Given the description of an element on the screen output the (x, y) to click on. 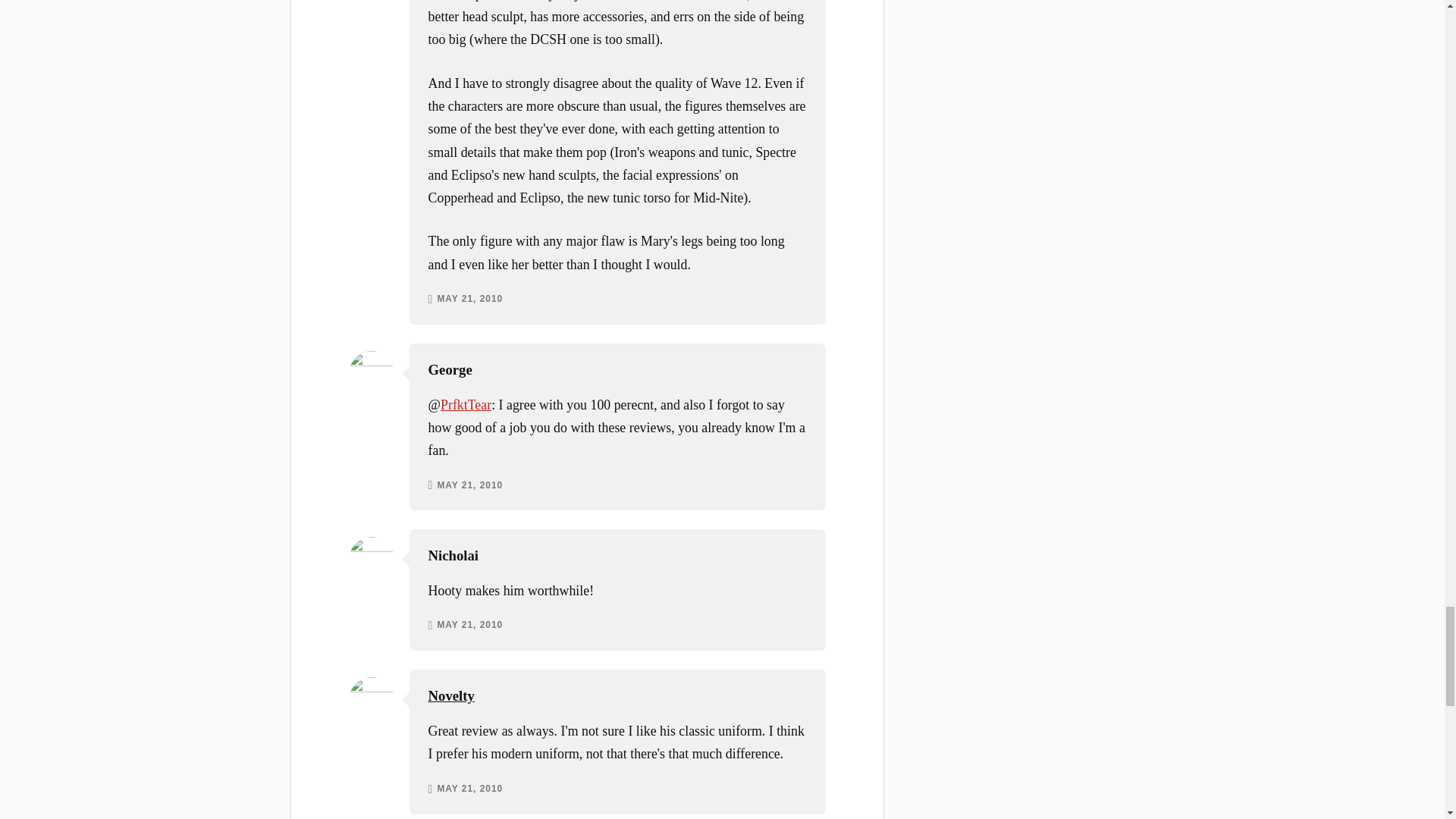
MAY 21, 2010 (469, 624)
MAY 21, 2010 (469, 485)
PrfktTear (466, 404)
MAY 21, 2010 (469, 298)
